Given the description of an element on the screen output the (x, y) to click on. 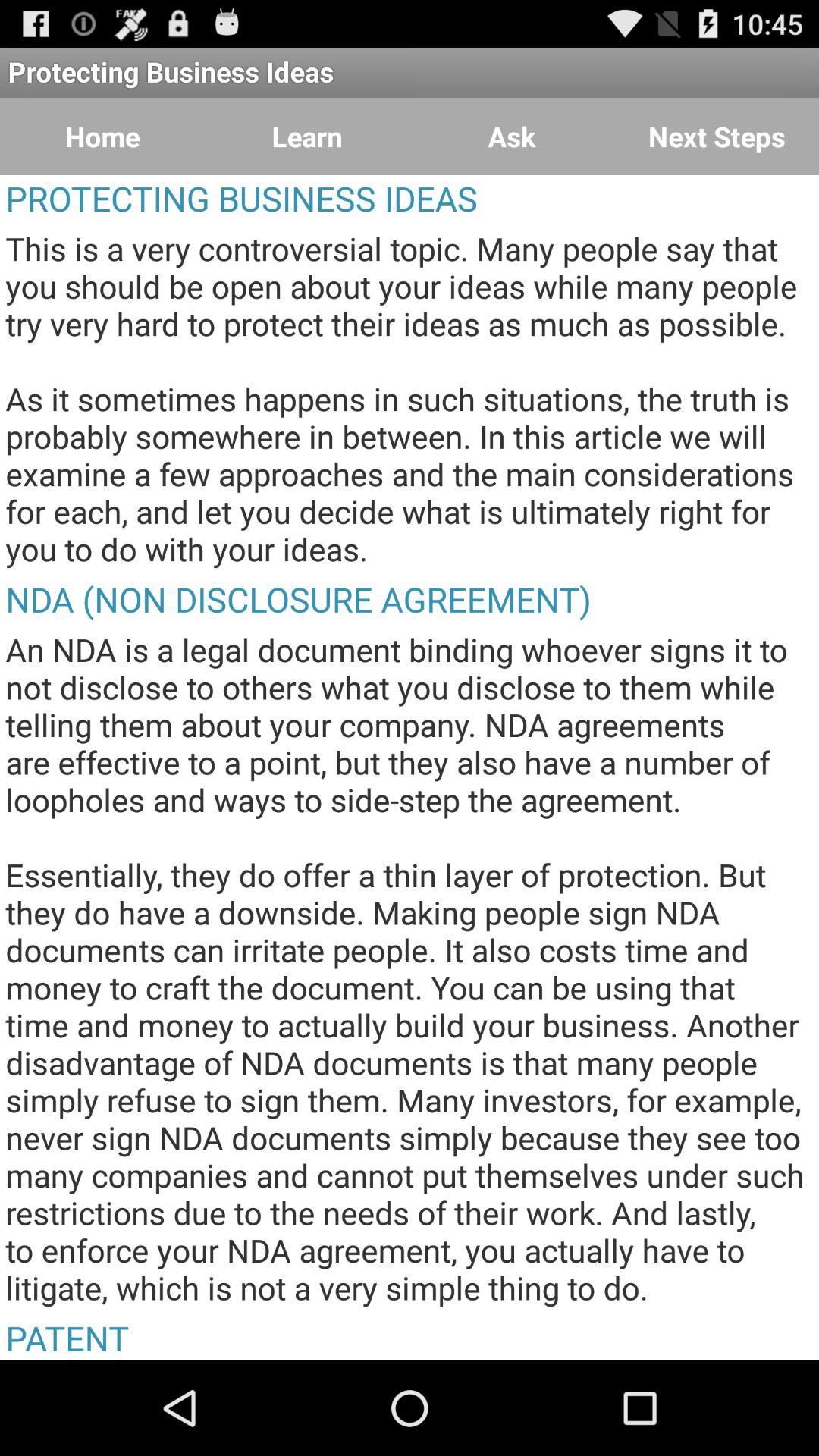
click the next steps at the top right corner (716, 136)
